Given the description of an element on the screen output the (x, y) to click on. 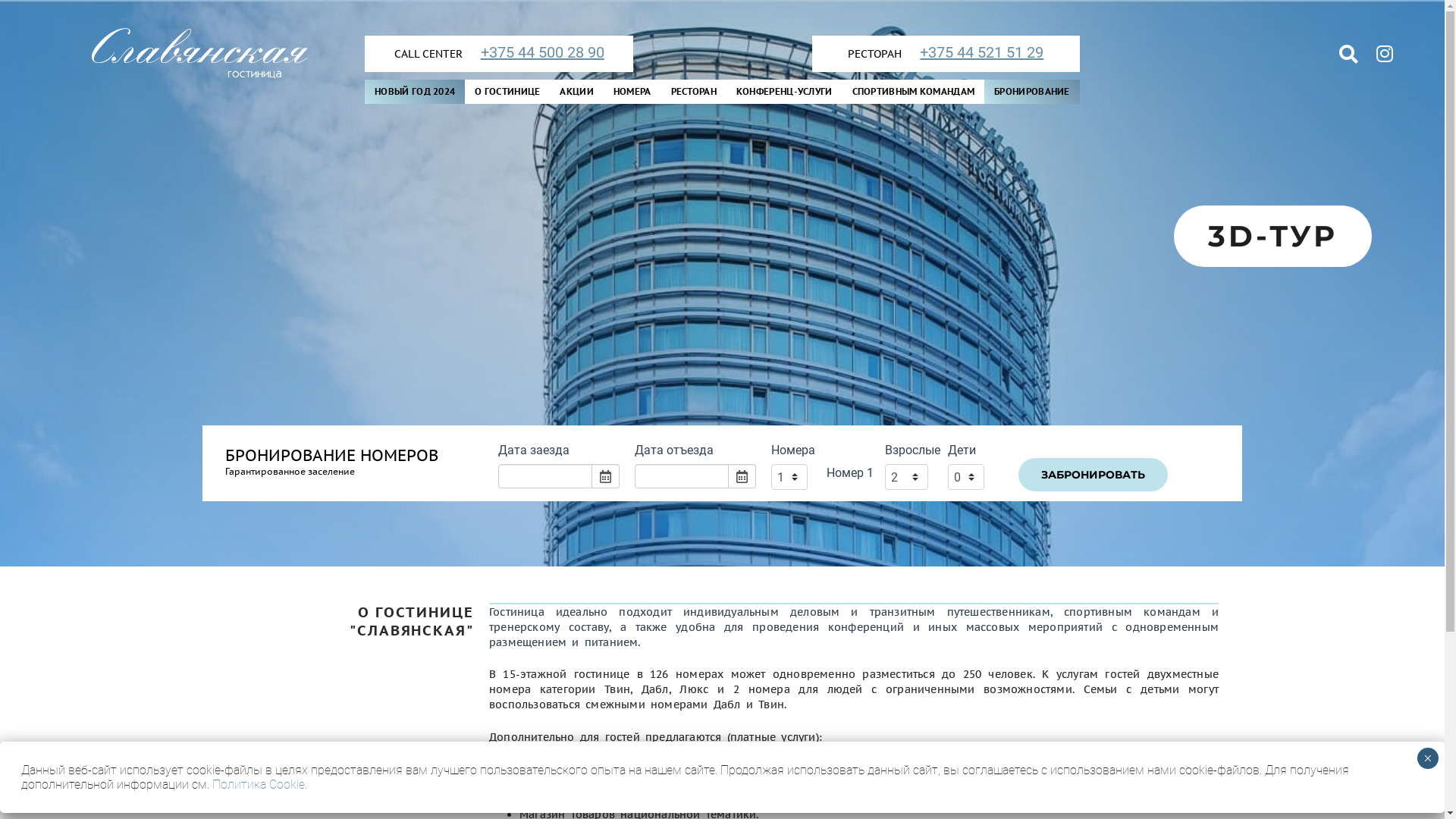
+375 44 521 51 29 Element type: text (973, 53)
+375 44 500 28 90 Element type: text (534, 53)
Instagram Element type: text (1384, 53)
